Given the description of an element on the screen output the (x, y) to click on. 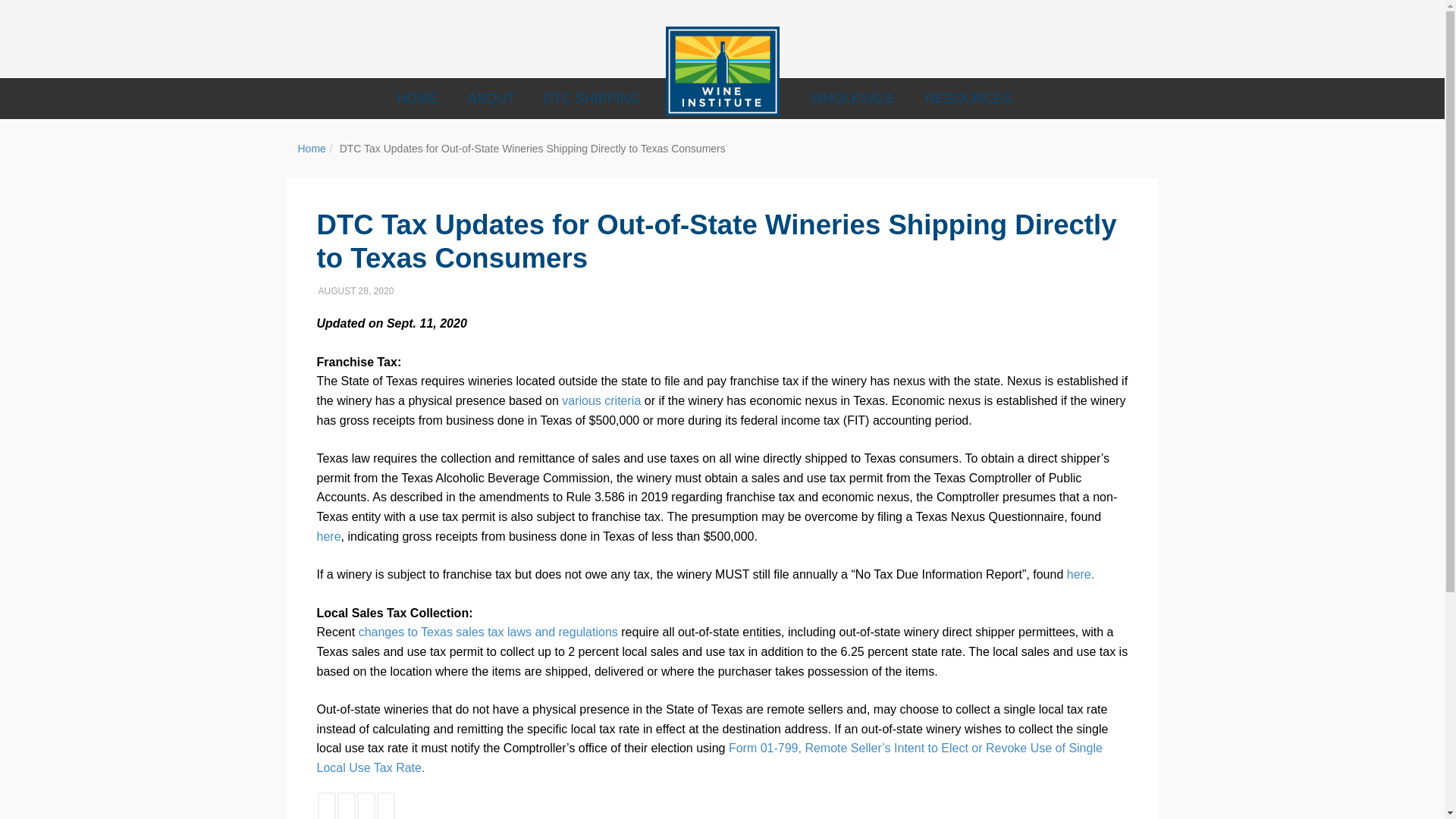
DTC SHIPPING (590, 97)
Wine Institute (721, 71)
ABOUT (490, 97)
Home (310, 148)
changes to Texas sales tax laws and regulations (487, 631)
Home (310, 148)
here (1078, 574)
HOME (416, 97)
RESOURCES (967, 97)
various criteria (601, 400)
